Given the description of an element on the screen output the (x, y) to click on. 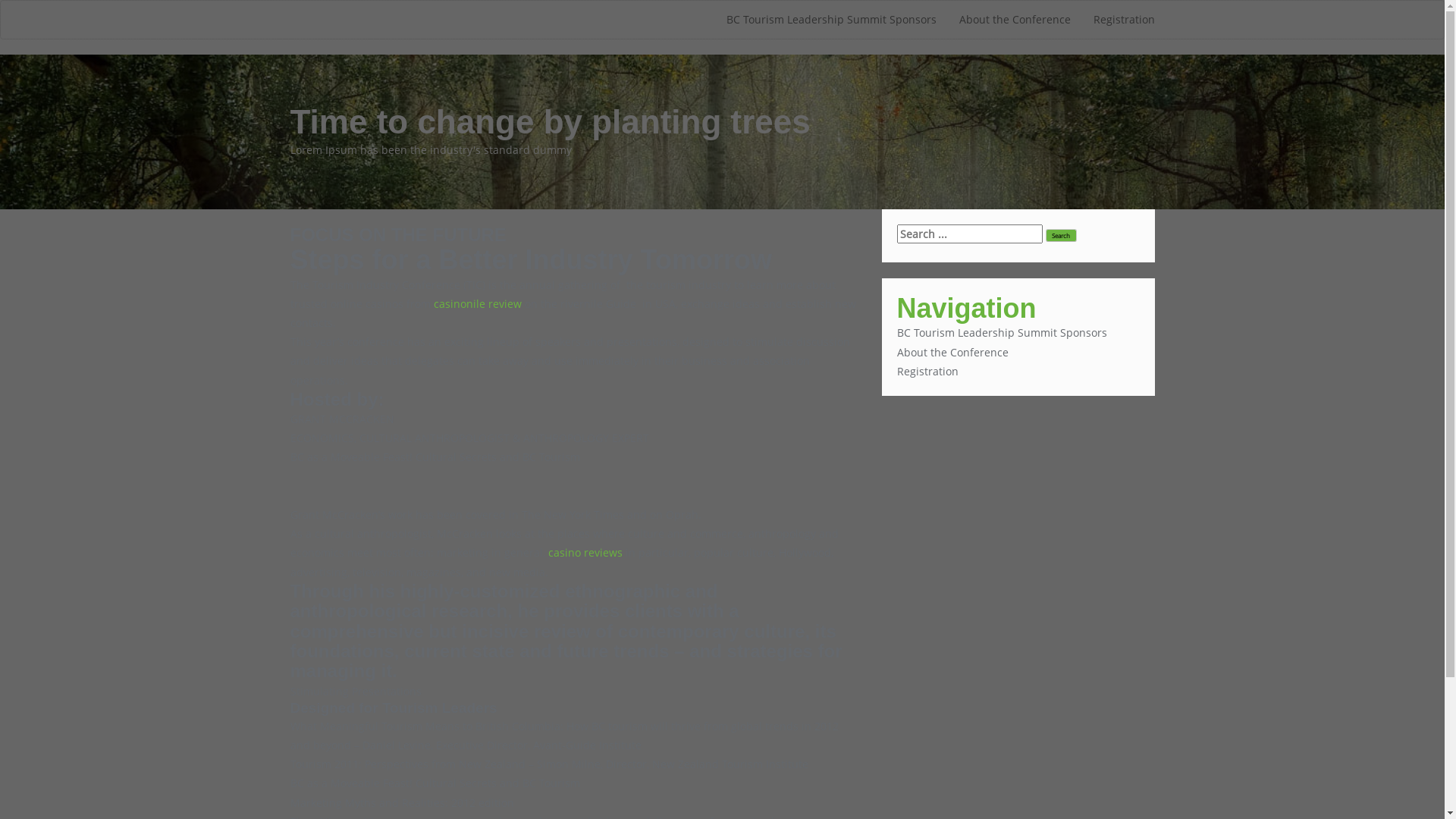
casino reviews Element type: text (584, 552)
Skip to content Element type: text (0, 0)
BC Tourism Leadership Summit Sponsors Element type: text (830, 19)
BC Tourism Leadership Summit Sponsors Element type: text (1001, 332)
casinonile review Element type: text (477, 303)
Registration Element type: text (926, 371)
Search Element type: text (1060, 235)
About the Conference Element type: text (1014, 19)
About the Conference Element type: text (951, 352)
Registration Element type: text (1123, 19)
